Given the description of an element on the screen output the (x, y) to click on. 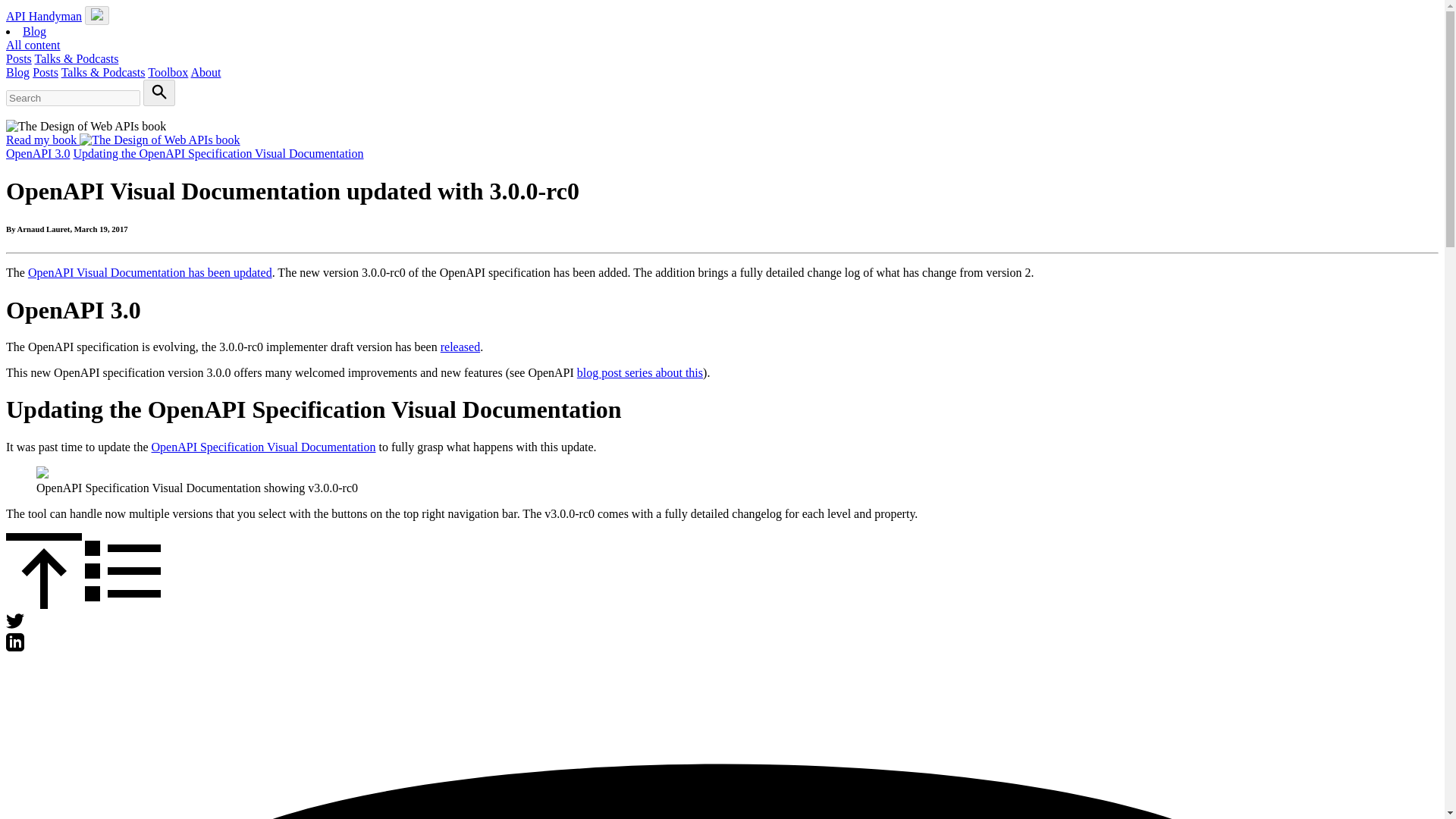
All content (33, 44)
Updating the OpenAPI Specification Visual Documentation (217, 153)
Read my book (122, 139)
Blog (34, 31)
blog post series about this (639, 372)
Posts (45, 72)
Blog (17, 72)
OpenAPI Specification Visual Documentation (263, 446)
released (460, 346)
Table of content (122, 604)
Toolbox (167, 72)
OpenAPI Visual Documentation has been updated (149, 272)
Back to top (43, 604)
Posts (18, 58)
API Handyman (43, 15)
